Given the description of an element on the screen output the (x, y) to click on. 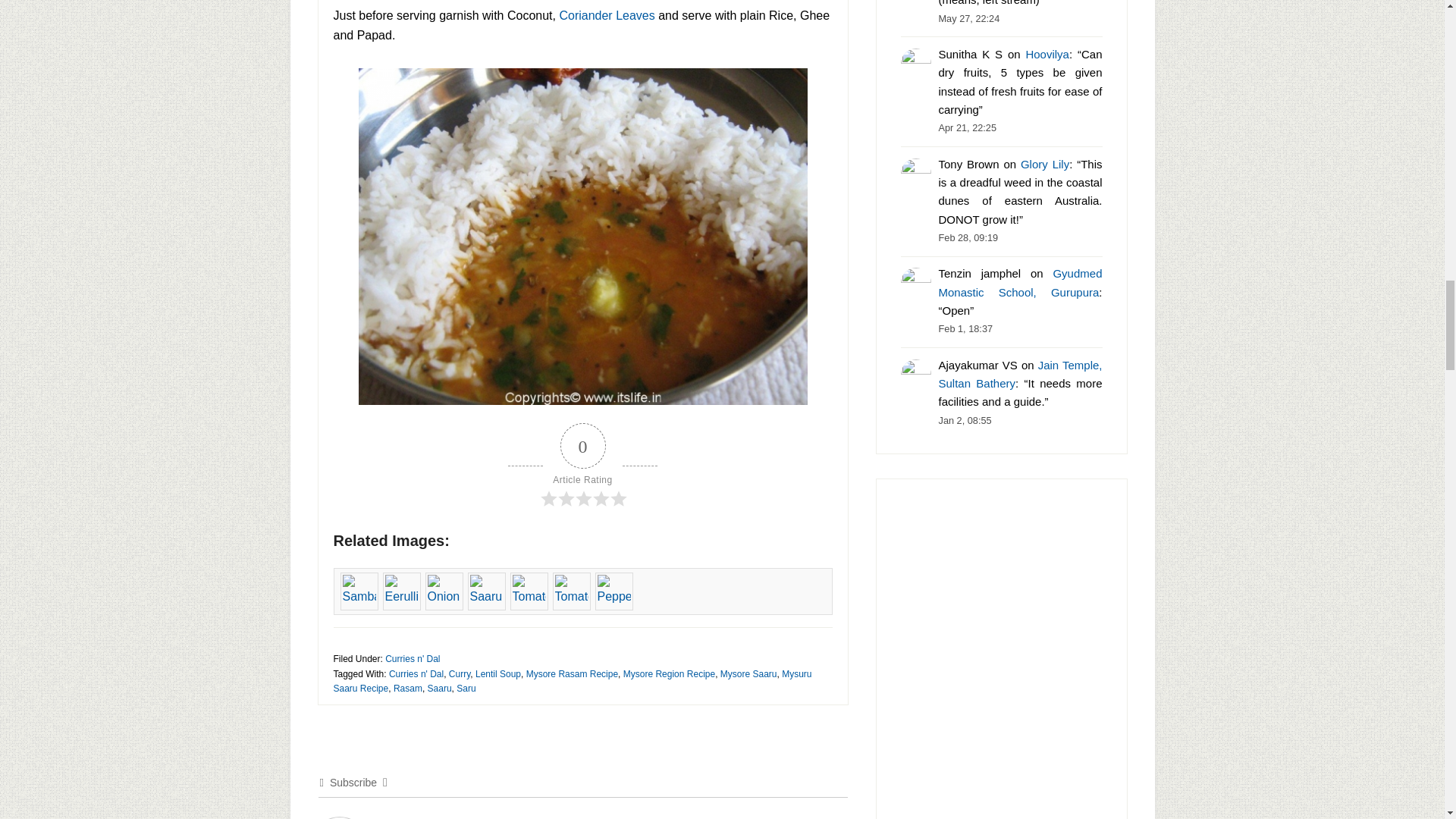
Curries n' Dal (416, 674)
Sambar Recipe (358, 591)
Curry (459, 674)
Coriander Leaves (606, 15)
Eerulli Huli Recipe (400, 591)
Curries n' Dal (412, 658)
